Given the description of an element on the screen output the (x, y) to click on. 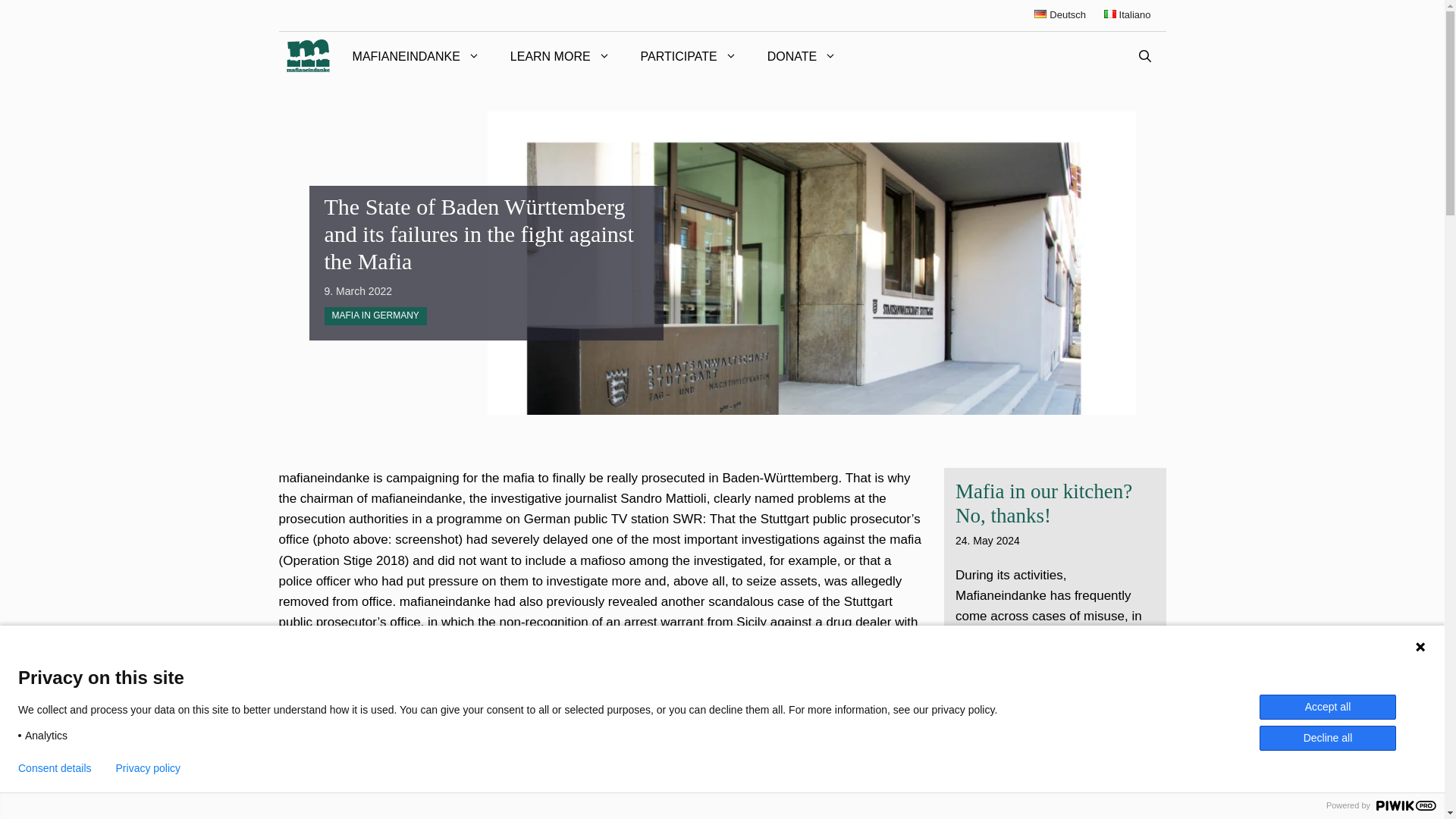
Deutsch (1059, 14)
Imprint (1265, 791)
Cookie-Richtlinie (1114, 791)
Italiano (1127, 14)
Piwik PRO (1405, 805)
EINSTELLUNGEN ANZEIGEN (1335, 759)
COOKIES AKZEPTIEREN (1014, 759)
